Given the description of an element on the screen output the (x, y) to click on. 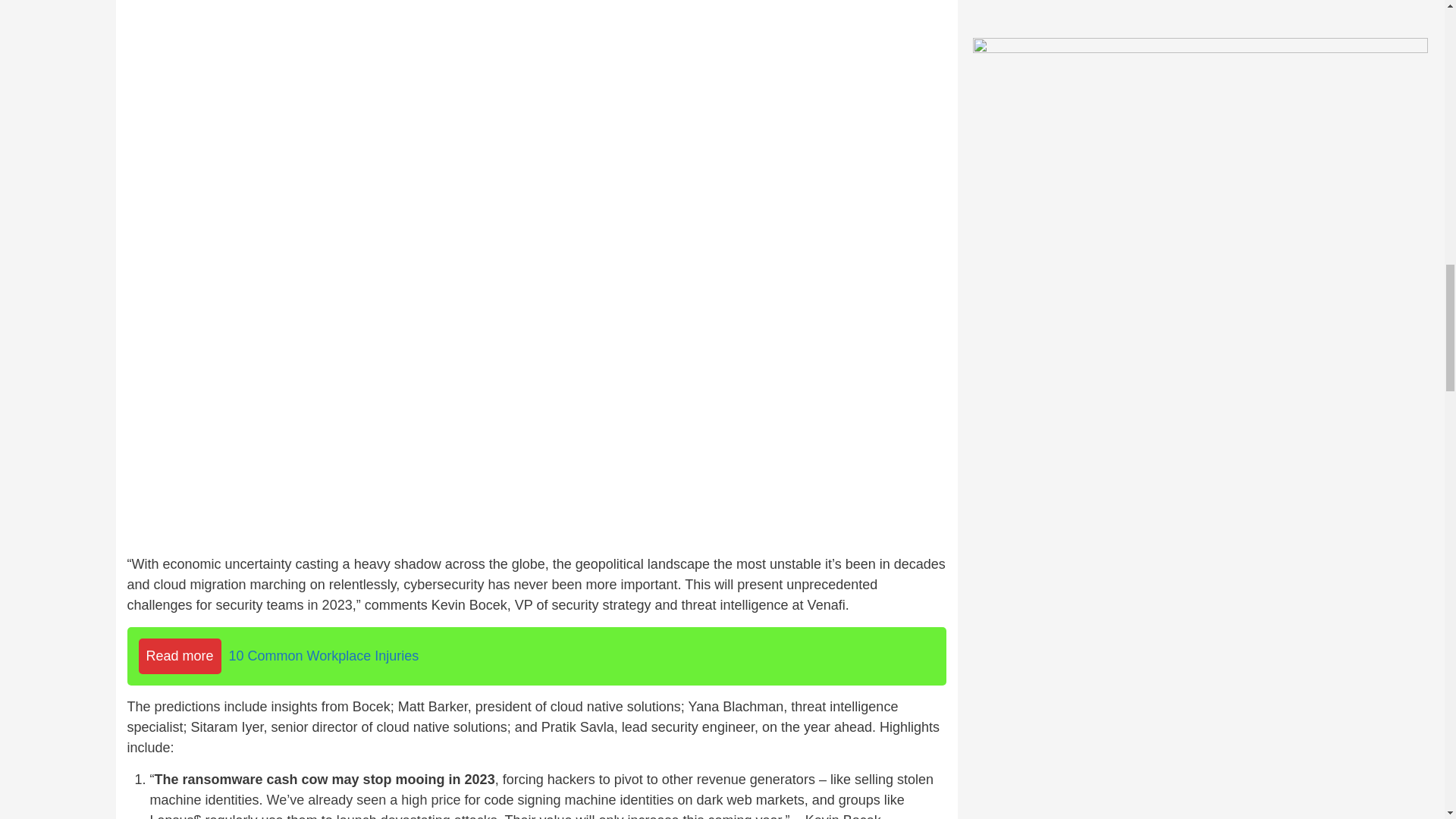
Search (1276, 203)
launch devastating attacks (416, 816)
Read more10 Common Workplace Injuries (537, 656)
Search (1276, 203)
